Given the description of an element on the screen output the (x, y) to click on. 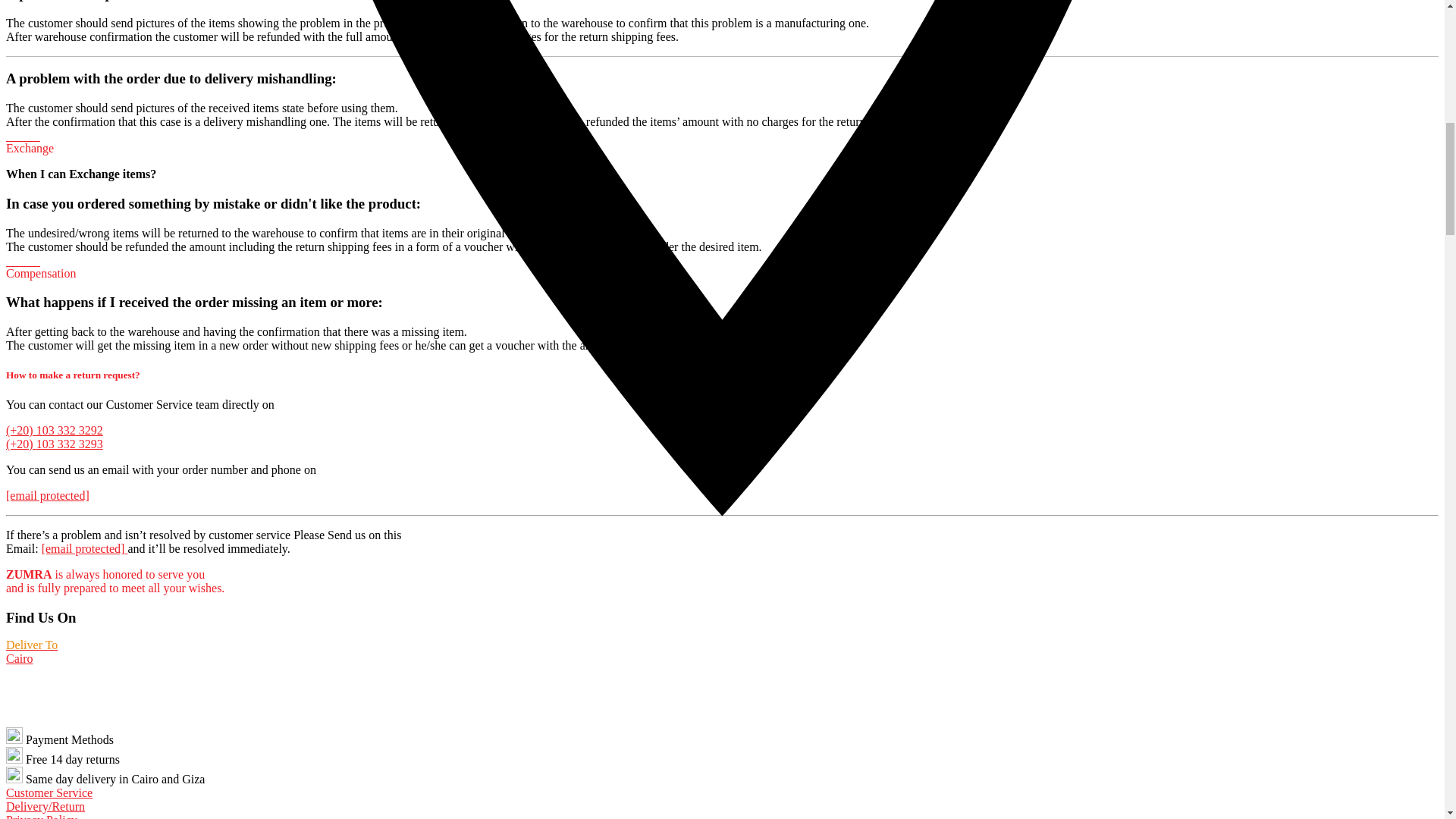
Privacy Policy (41, 816)
Customer Service (49, 792)
